Given the description of an element on the screen output the (x, y) to click on. 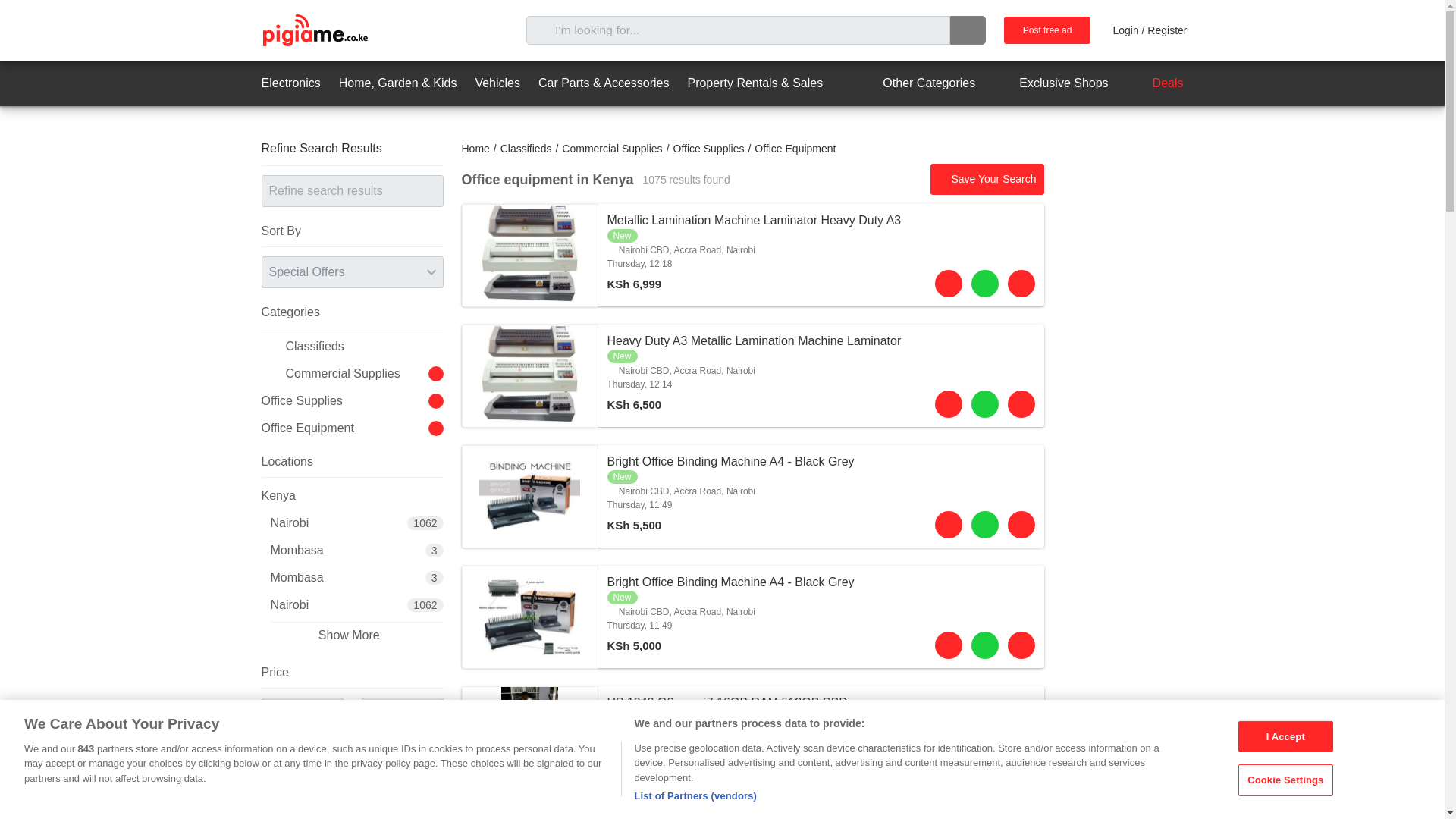
Exclusive Shops (1050, 83)
Vehicles (497, 83)
Office Equipment (794, 148)
PigiaMe (314, 29)
Other Categories (915, 83)
Commercial Supplies (612, 148)
Deals (1155, 83)
Classifieds (525, 148)
Office Supplies (708, 148)
Home (475, 148)
Post free ad (1047, 30)
